Given the description of an element on the screen output the (x, y) to click on. 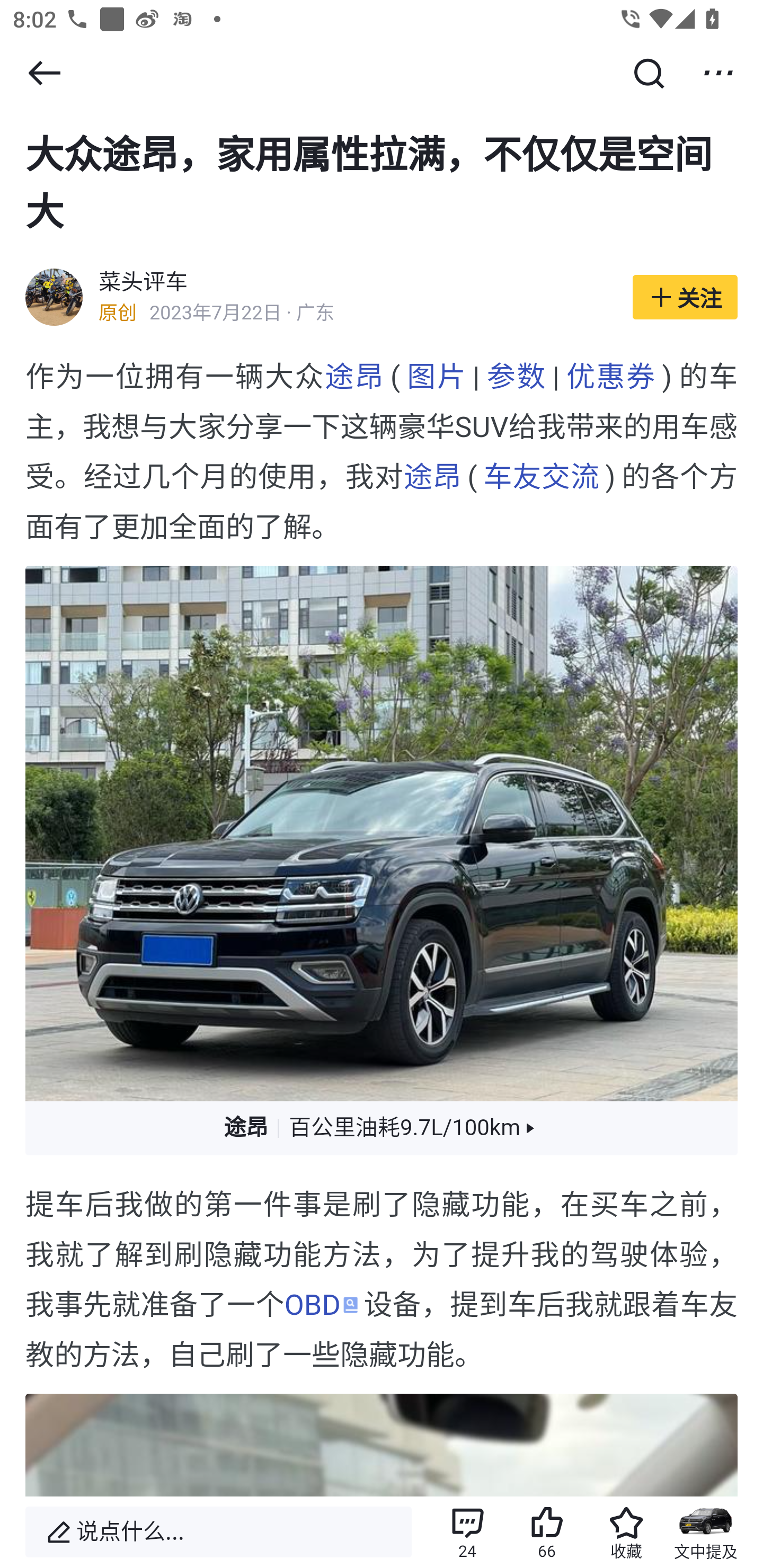
 (44, 72)
 (648, 72)
 (718, 72)
菜头评车 (143, 283)
2929a562a6a2dafd904db1b0bab5296f~300x300 (53, 297)
关注 (684, 297)
原创2023年7月22日 · 广东 原创 2023年7月22日  · 广东 (355, 314)
途昂 (354, 377)
图片 (435, 377)
参数 (515, 377)
优惠券 (610, 377)
途昂 (432, 477)
车友交流 (541, 477)
TMeIcCBIRIcsaAKPMGxAfF-_2Cc (381, 834)
途昂 百公里油耗9.7L/100km 途昂 百公里油耗9.7L/100km (381, 1128)
 24 (467, 1531)
66 (546, 1531)
收藏 (625, 1531)
文中提及 (705, 1531)
 说点什么... (218, 1531)
